Given the description of an element on the screen output the (x, y) to click on. 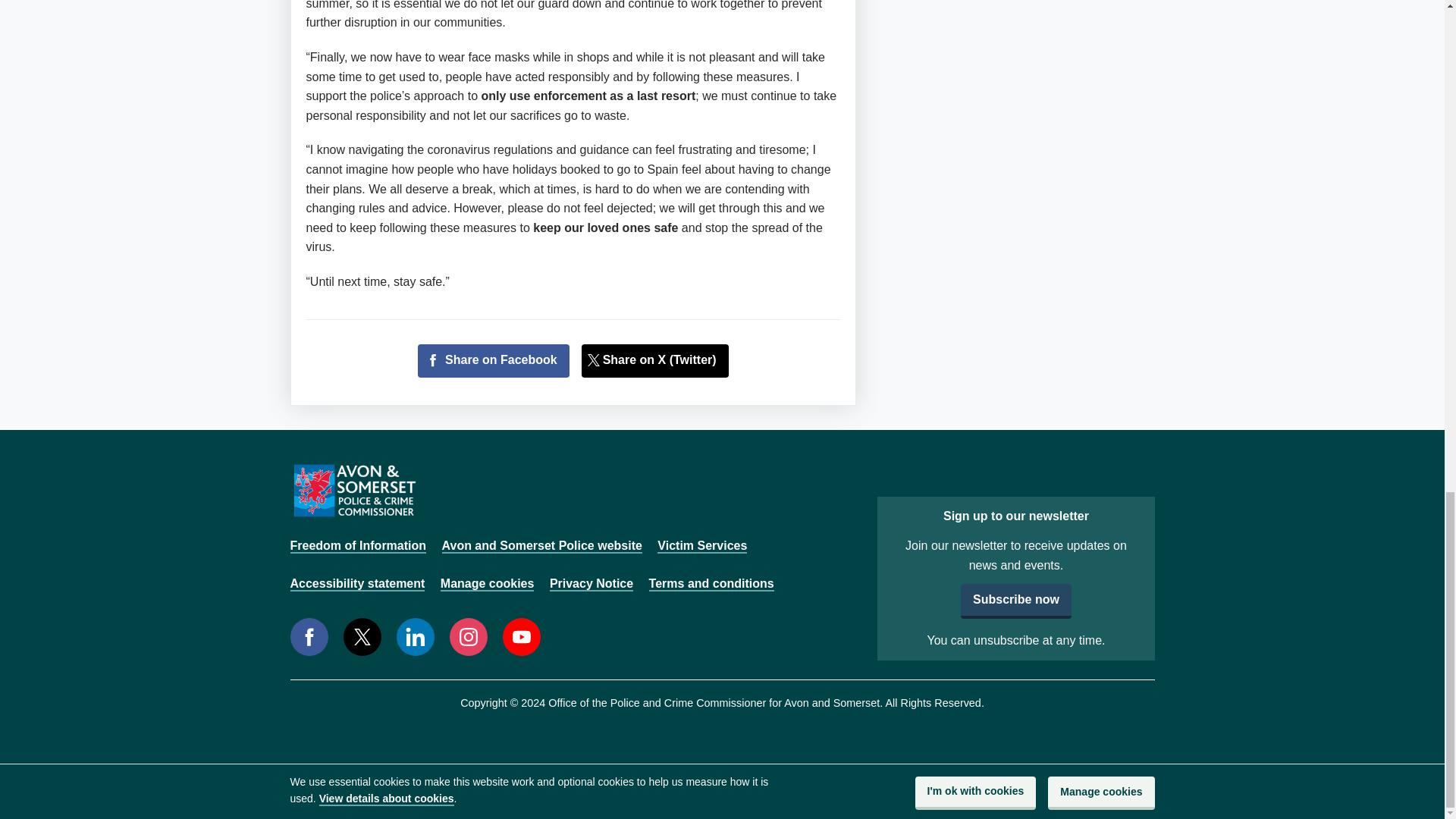
Share on Facebook (493, 360)
